Given the description of an element on the screen output the (x, y) to click on. 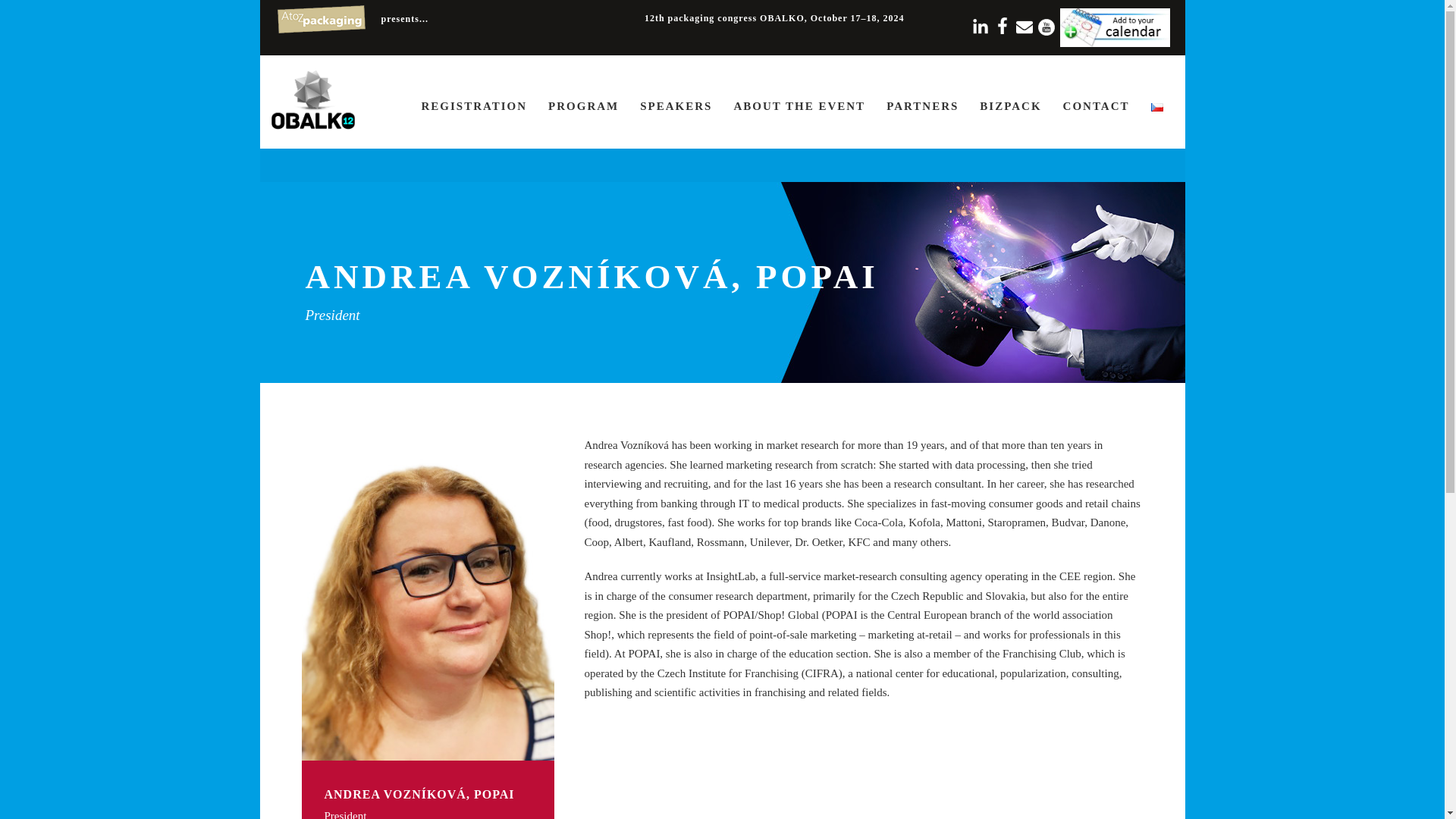
ABOUT THE EVENT (798, 121)
REGISTRATION (474, 121)
SPEAKERS (675, 121)
PROGRAM (583, 121)
